Given the description of an element on the screen output the (x, y) to click on. 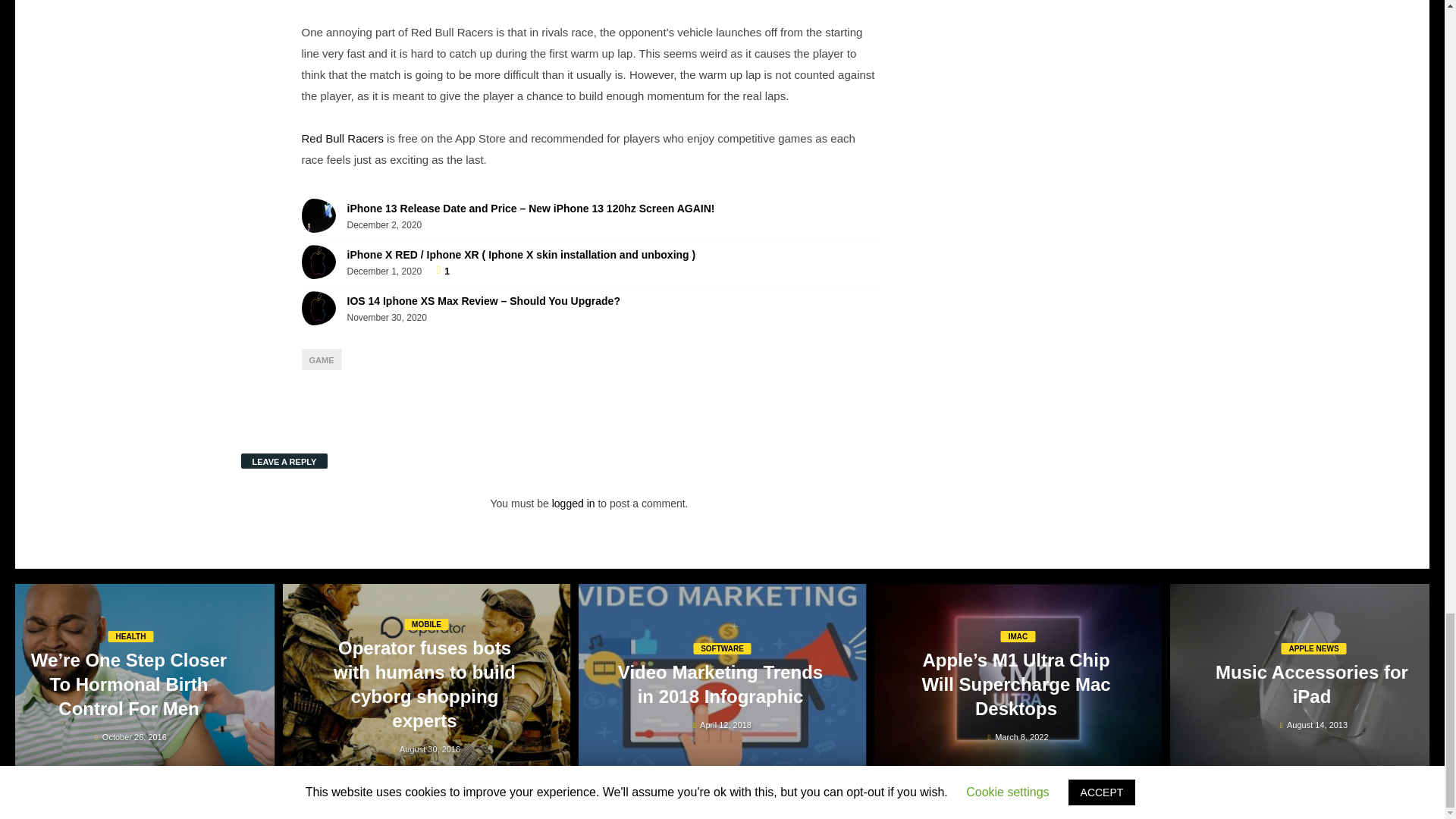
GAME (321, 359)
logged in (573, 503)
